Given the description of an element on the screen output the (x, y) to click on. 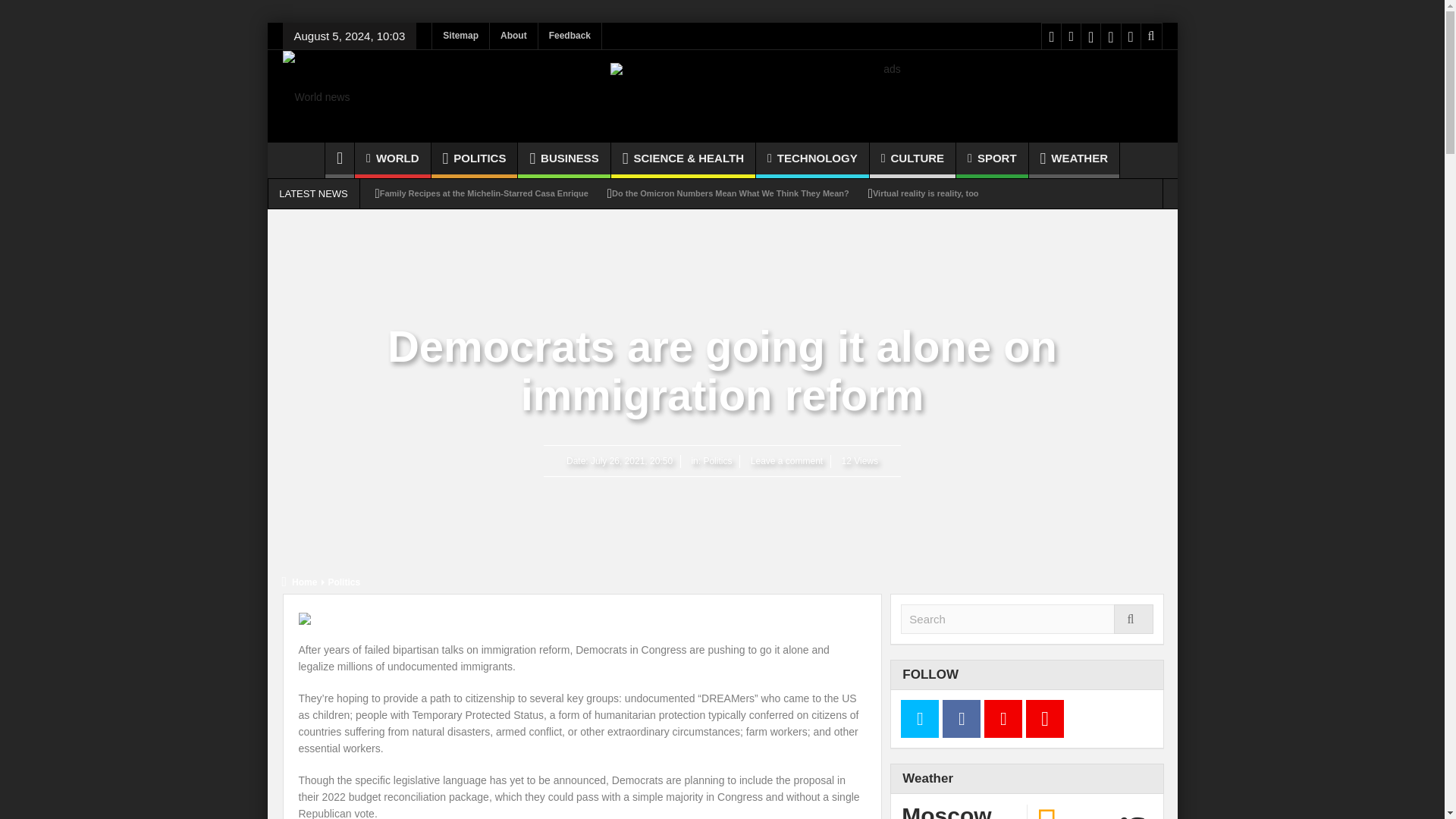
BUSINESS (564, 160)
Family Recipes at the Michelin-Starred Casa Enrique (484, 193)
Politics (343, 581)
SPORT (991, 160)
Feedback (569, 35)
Politics (717, 460)
Search (1027, 618)
Search for: (1027, 618)
POLITICS (474, 160)
WEATHER (1074, 160)
